Given the description of an element on the screen output the (x, y) to click on. 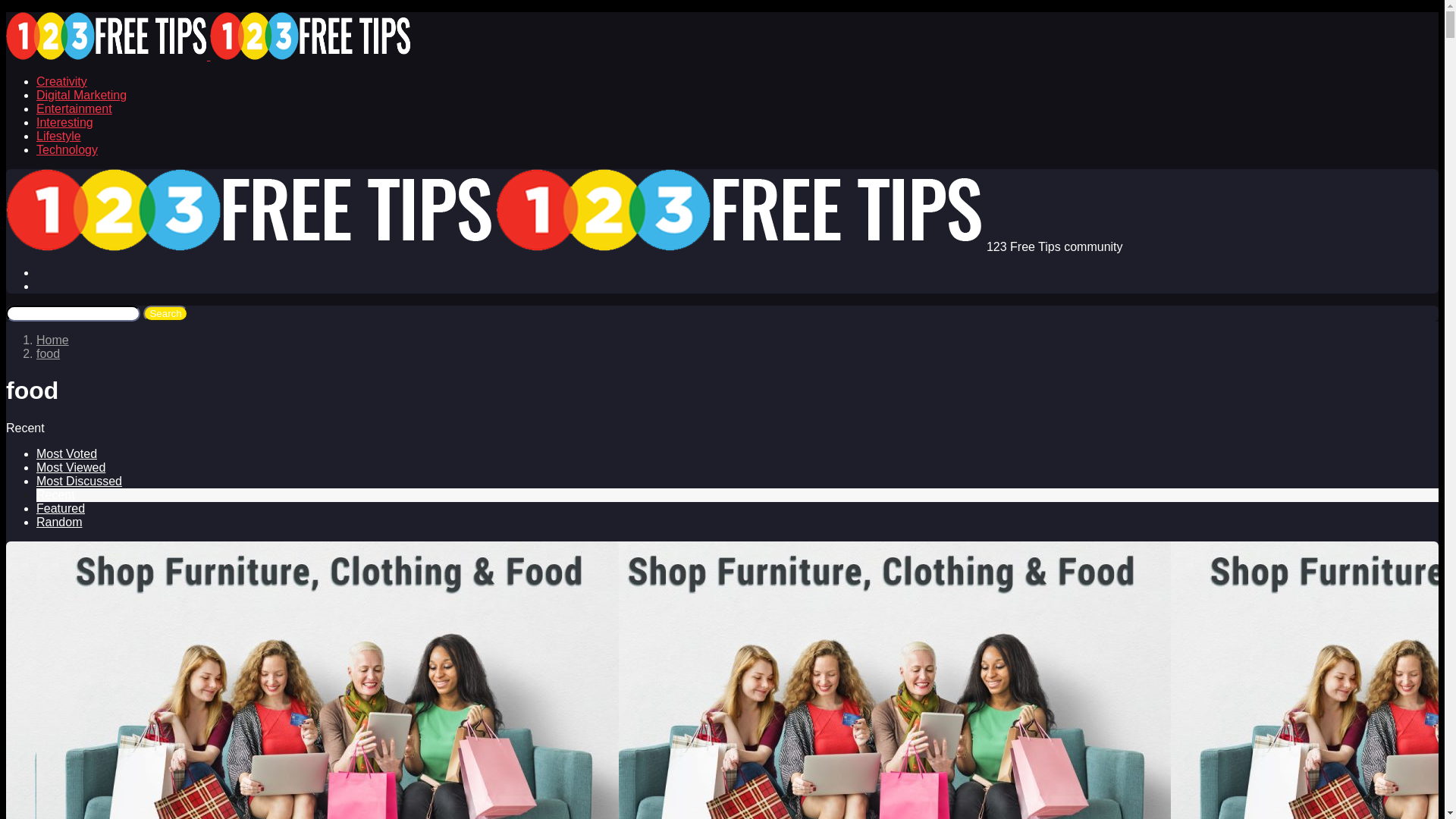
Creativity Element type: text (61, 81)
Recent Element type: text (55, 494)
Search Element type: text (165, 313)
Most Voted Element type: text (66, 453)
Most Viewed Element type: text (70, 467)
food Element type: text (47, 353)
Technology Element type: text (66, 149)
Home Element type: text (52, 339)
Entertainment Element type: text (74, 108)
Featured Element type: text (60, 508)
Interesting Element type: text (64, 122)
Random Element type: text (58, 521)
Lifestyle Element type: text (58, 135)
Most Discussed Element type: text (79, 480)
Digital Marketing Element type: text (81, 94)
